Given the description of an element on the screen output the (x, y) to click on. 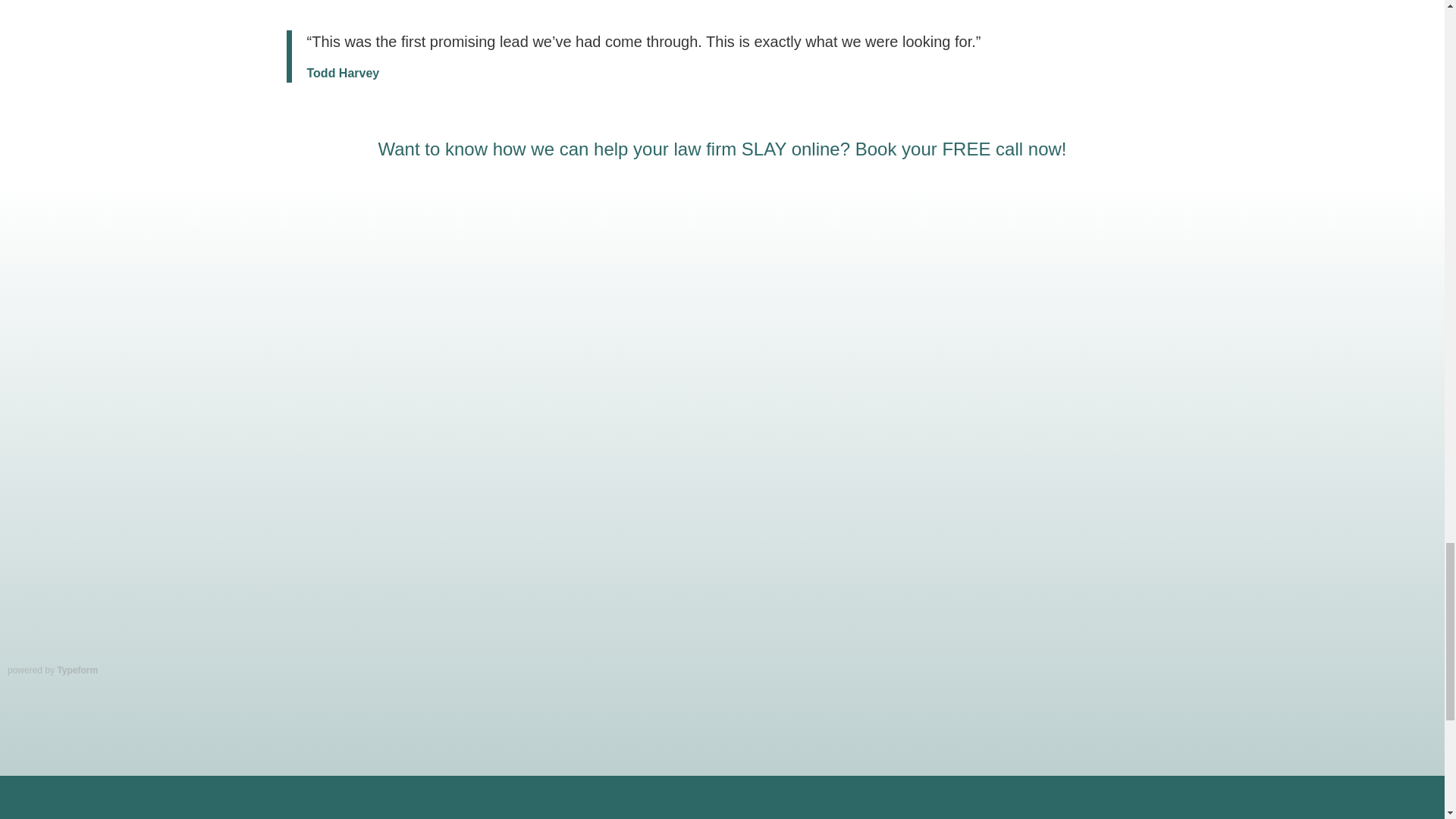
Typeform (76, 670)
trial law digital (504, 810)
